Given the description of an element on the screen output the (x, y) to click on. 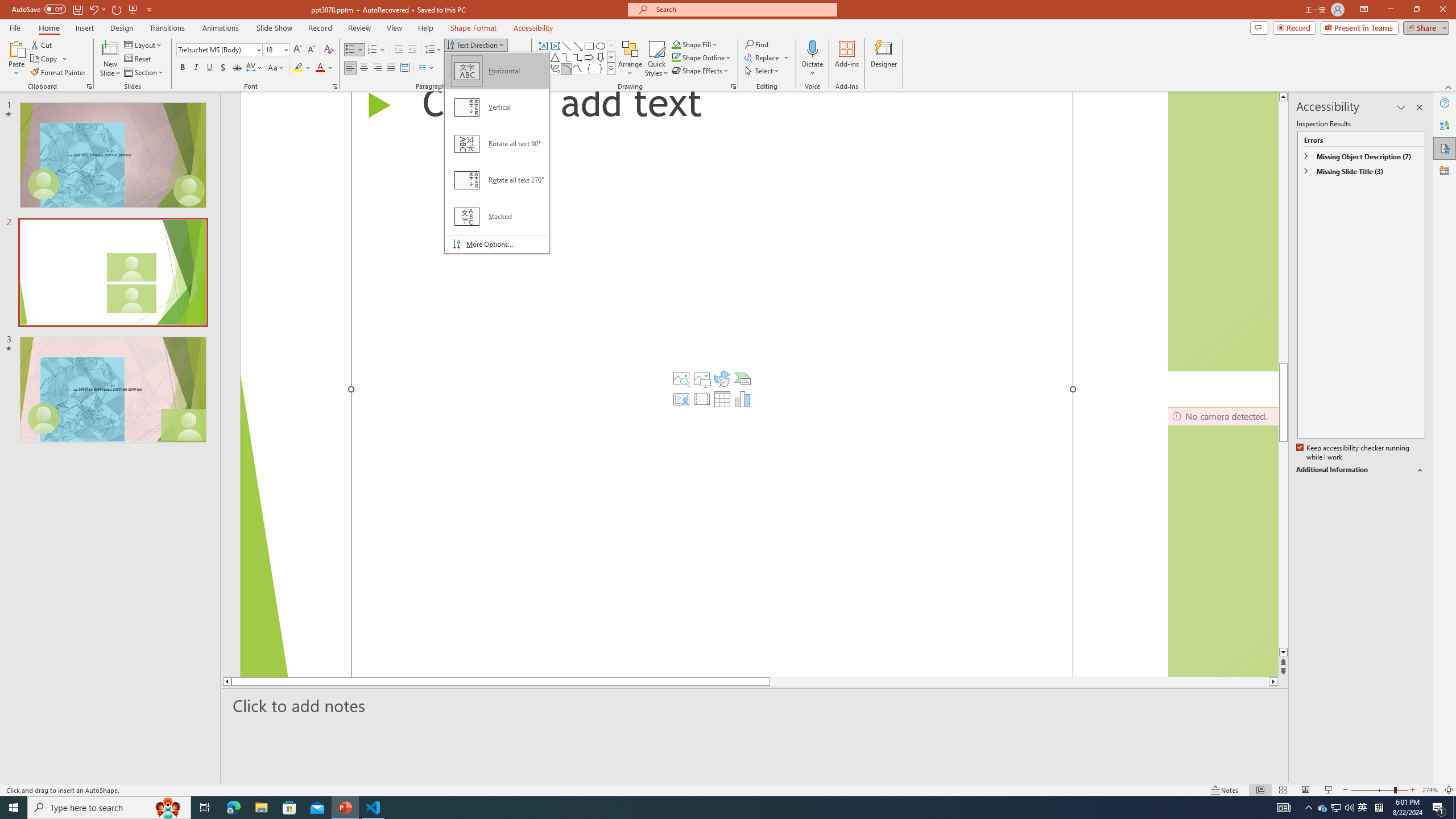
Insert a SmartArt Graphic (742, 378)
